Given the description of an element on the screen output the (x, y) to click on. 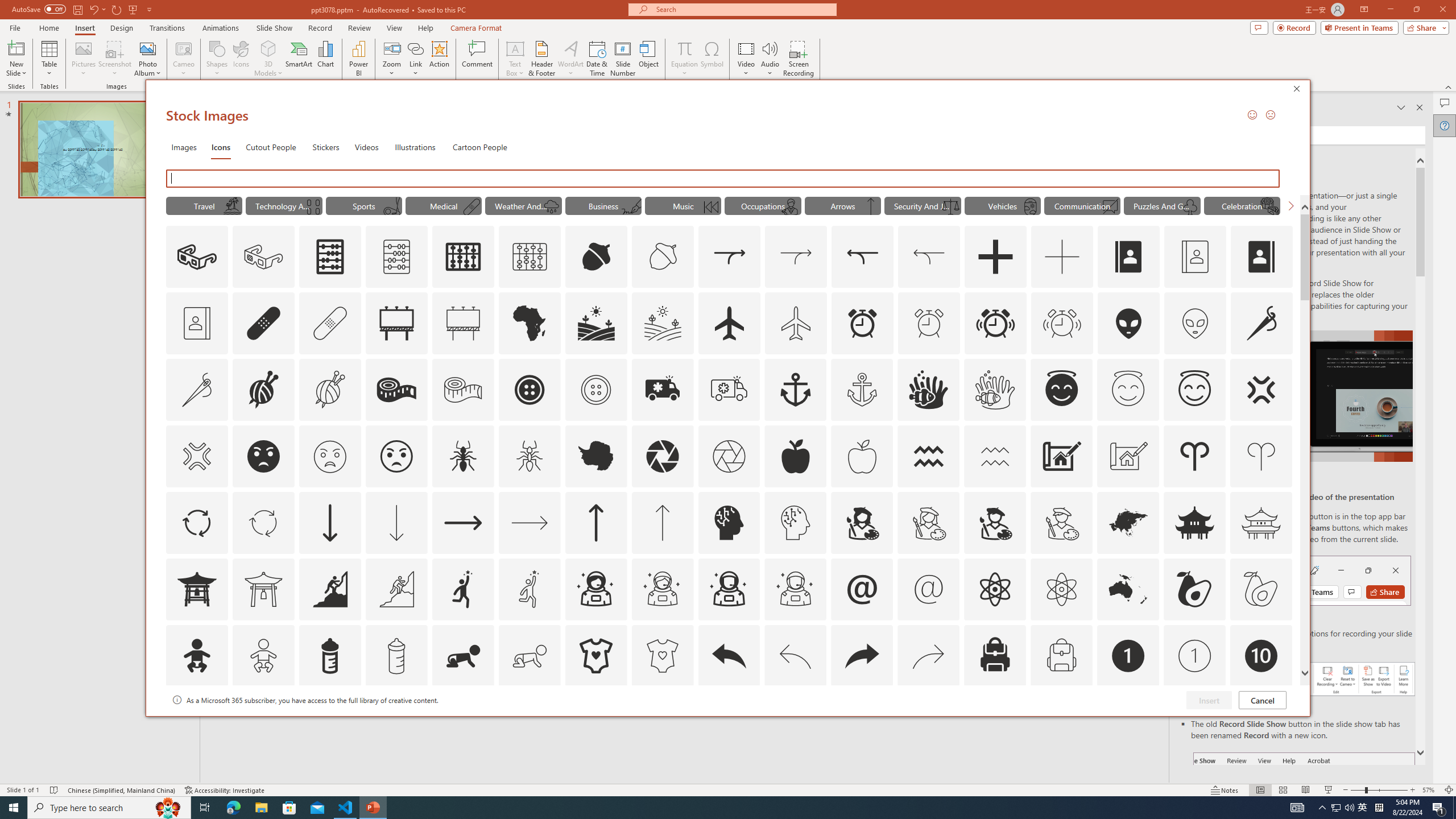
"Puzzles And Games" Icons. (1162, 205)
AutomationID: Icons_ArrowDown_M (395, 522)
Stickers (326, 146)
AutomationID: Icons_Aspiration (329, 588)
AutomationID: Icons_Badge4_M (595, 721)
AutomationID: Icons_Elliptical_M (391, 206)
AutomationID: Icons_ArrowUp_M (662, 522)
AutomationID: Icons_AlarmRinging_M (1062, 323)
